Given the description of an element on the screen output the (x, y) to click on. 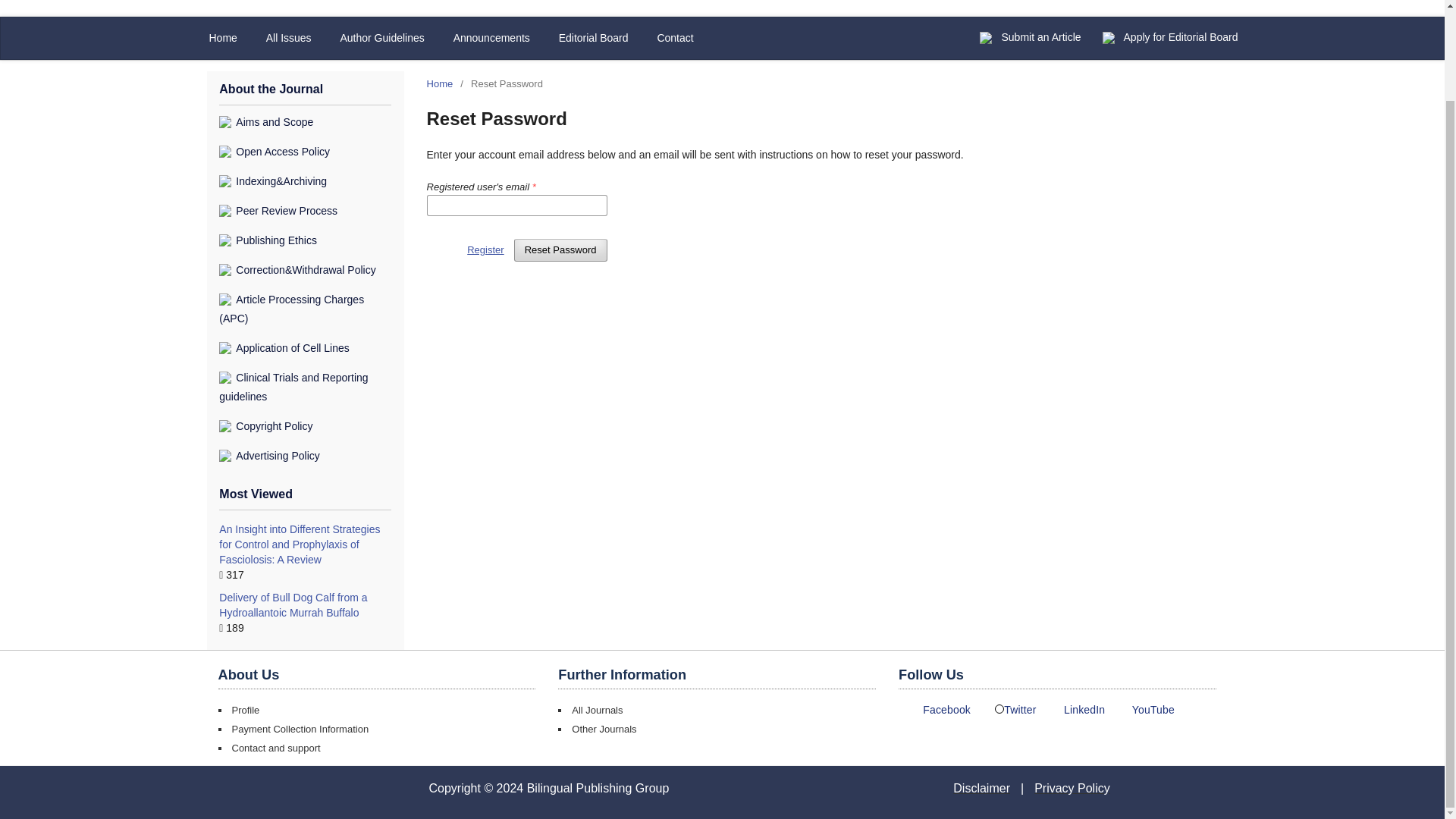
Editorial Board (593, 38)
Publishing Ethics (268, 240)
Profile (245, 709)
Announcements (491, 38)
Author Guidelines (380, 38)
All Issues (288, 38)
Copyright Policy (266, 426)
Apply for Editorial Board (1181, 36)
Peer Review Process (278, 210)
Payment Collection Information (300, 728)
Clinical Trials and Reporting guidelines (293, 386)
Advertising Policy (269, 455)
Home (439, 83)
Application of Cell Lines (284, 347)
